Given the description of an element on the screen output the (x, y) to click on. 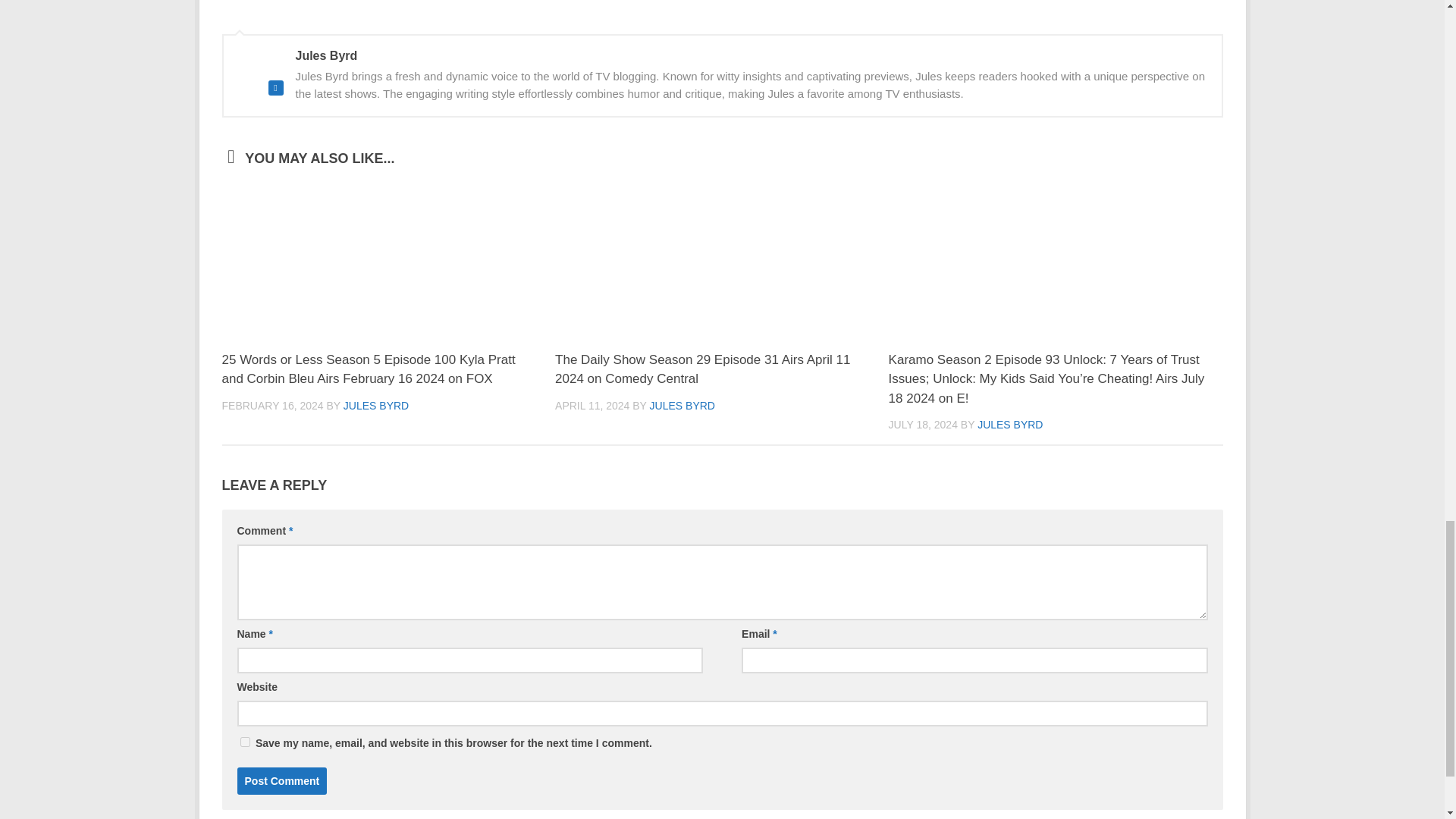
Posts by Jules Byrd (376, 405)
Post Comment (280, 780)
Posts by Jules Byrd (681, 405)
Post Comment (280, 780)
JULES BYRD (376, 405)
JULES BYRD (681, 405)
yes (244, 741)
Posts by Jules Byrd (1009, 424)
JULES BYRD (1009, 424)
